Given the description of an element on the screen output the (x, y) to click on. 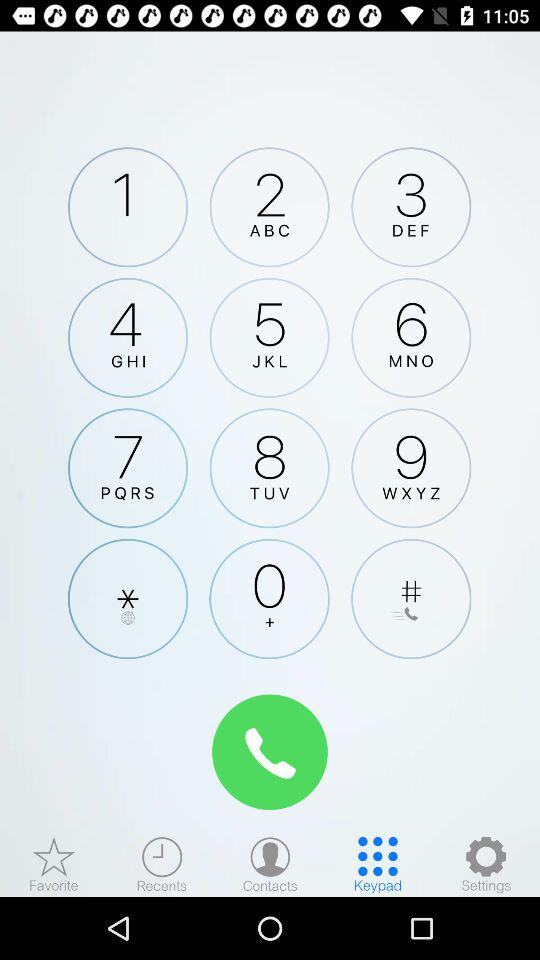
asterisk (127, 598)
